Given the description of an element on the screen output the (x, y) to click on. 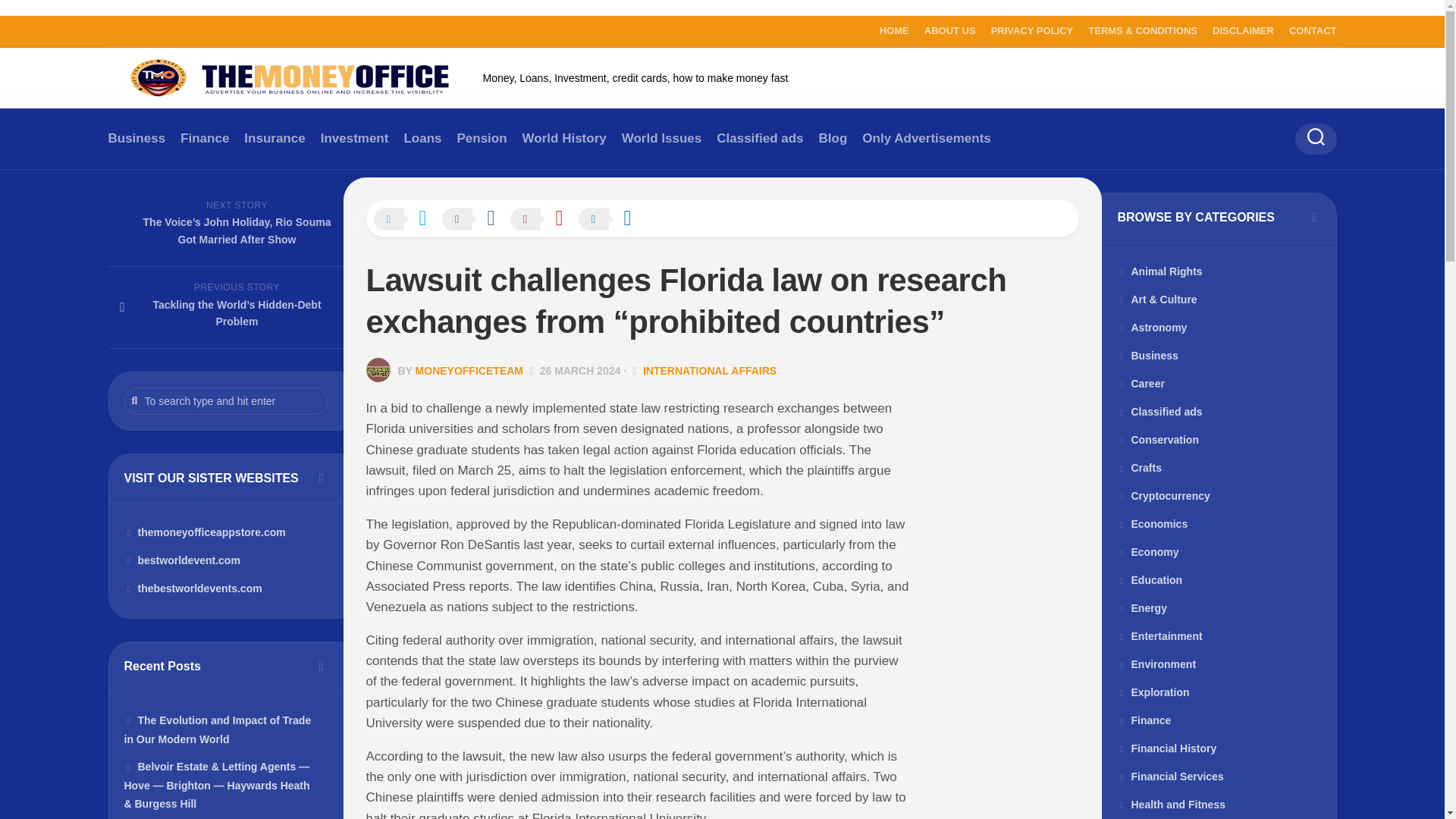
Share on X (406, 219)
ABOUT US (949, 30)
CONTACT (1312, 30)
PRIVACY POLICY (1032, 30)
Loans (422, 138)
World Issues (661, 138)
World History (564, 138)
To search type and hit enter (225, 400)
Share on Pinterest (543, 219)
Share on LinkedIn (612, 219)
Classified ads (759, 138)
Finance (204, 138)
Pension (481, 138)
Insurance (274, 138)
DISCLAIMER (1243, 30)
